Given the description of an element on the screen output the (x, y) to click on. 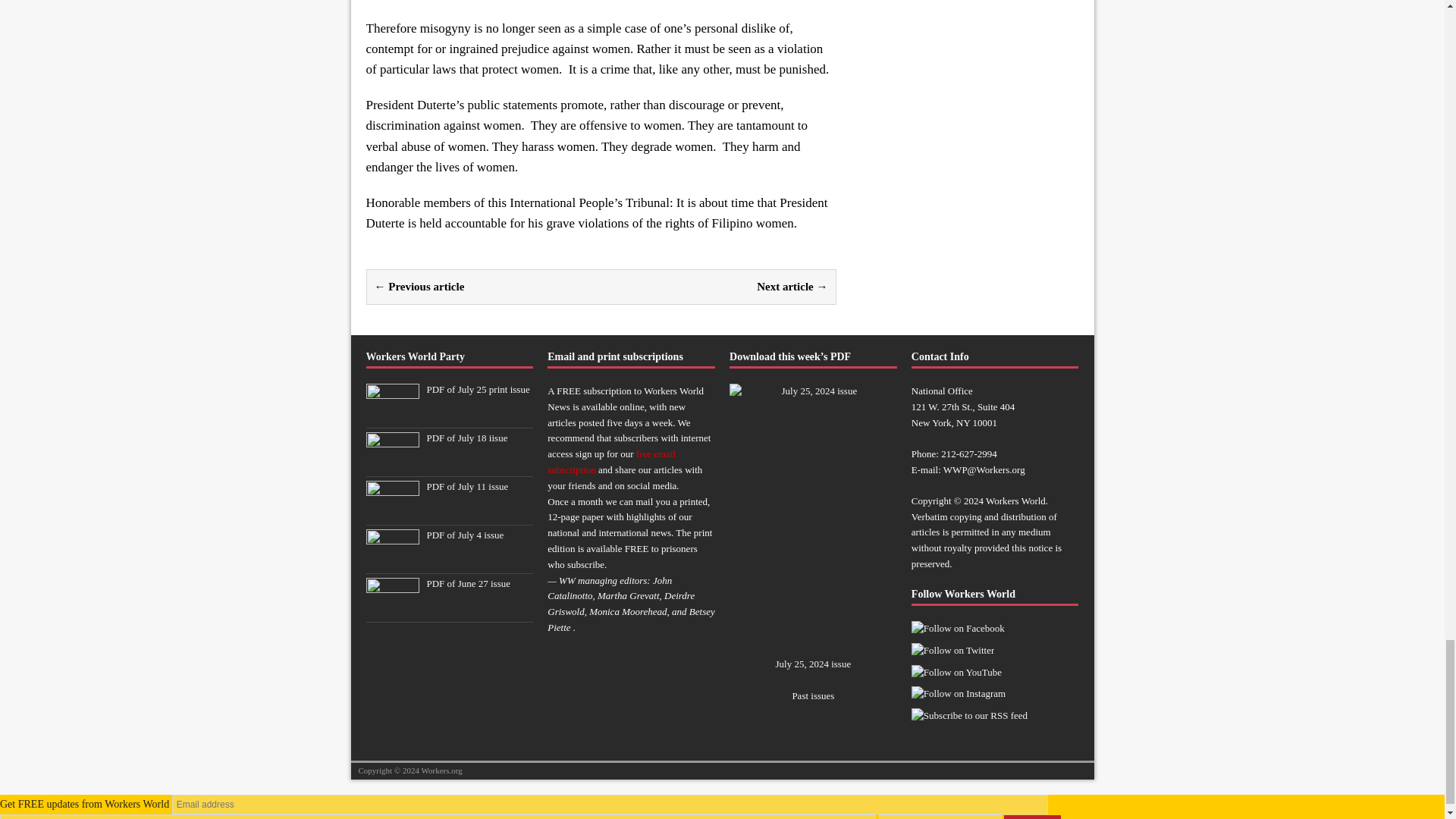
PDF of July 25 print issue (477, 389)
PDF of July 18 iisue (392, 463)
PDF of July 25 print issue (392, 414)
PDF of June 27 issue (392, 609)
PDF of July 11 issue (467, 486)
PDF of July 11 issue (392, 511)
PDF of July 18 iisue (466, 437)
PDF of July 4 issue (464, 534)
PDF of July 4 issue (392, 560)
PDF of June 27 issue (468, 583)
